Given the description of an element on the screen output the (x, y) to click on. 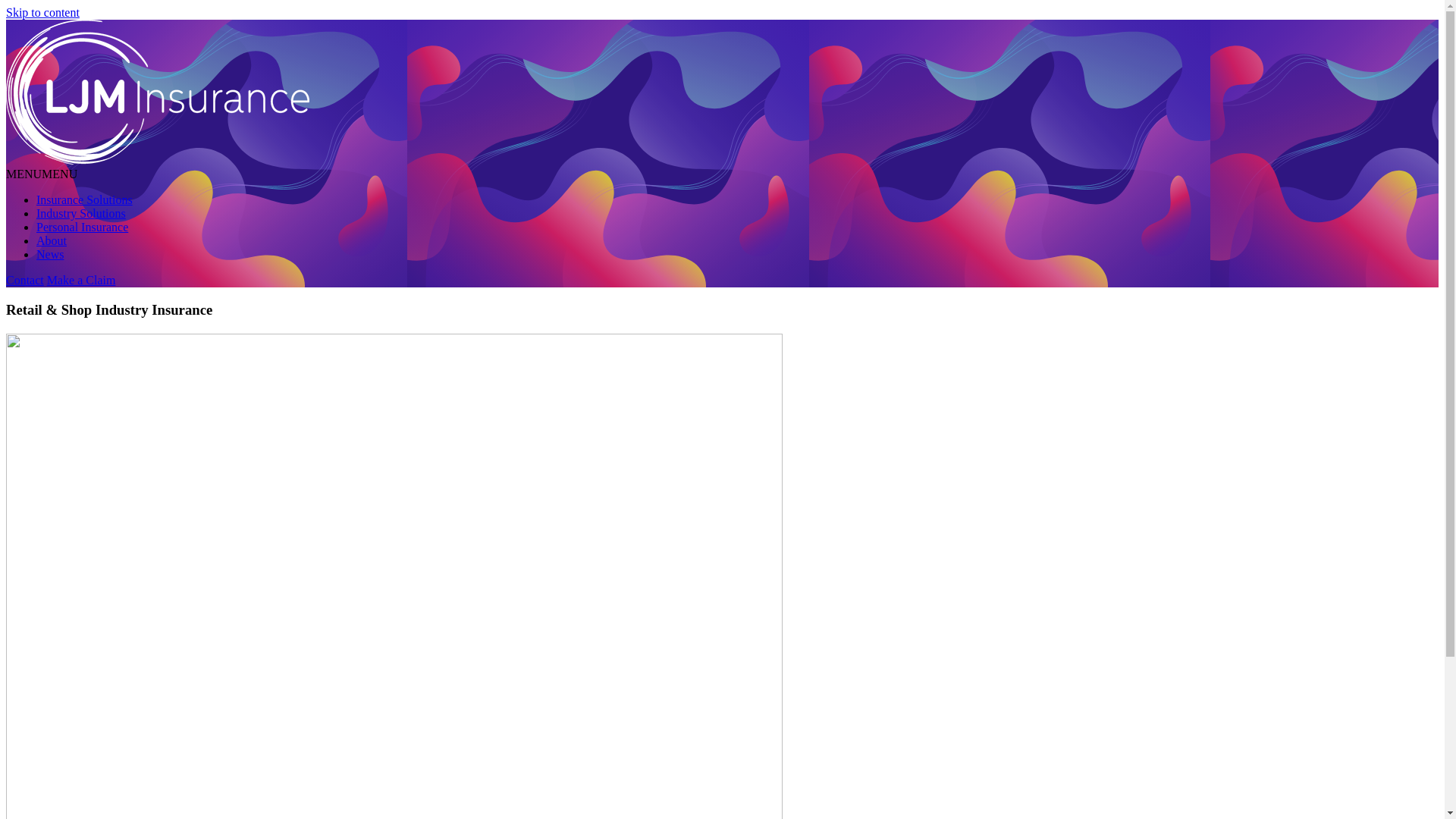
About Element type: text (51, 240)
Contact Element type: text (24, 279)
Industry Solutions Element type: text (80, 213)
News Element type: text (49, 253)
Make a Claim Element type: text (81, 279)
Personal Insurance Element type: text (82, 226)
Insurance Solutions Element type: text (84, 199)
Skip to content Element type: text (42, 12)
